Given the description of an element on the screen output the (x, y) to click on. 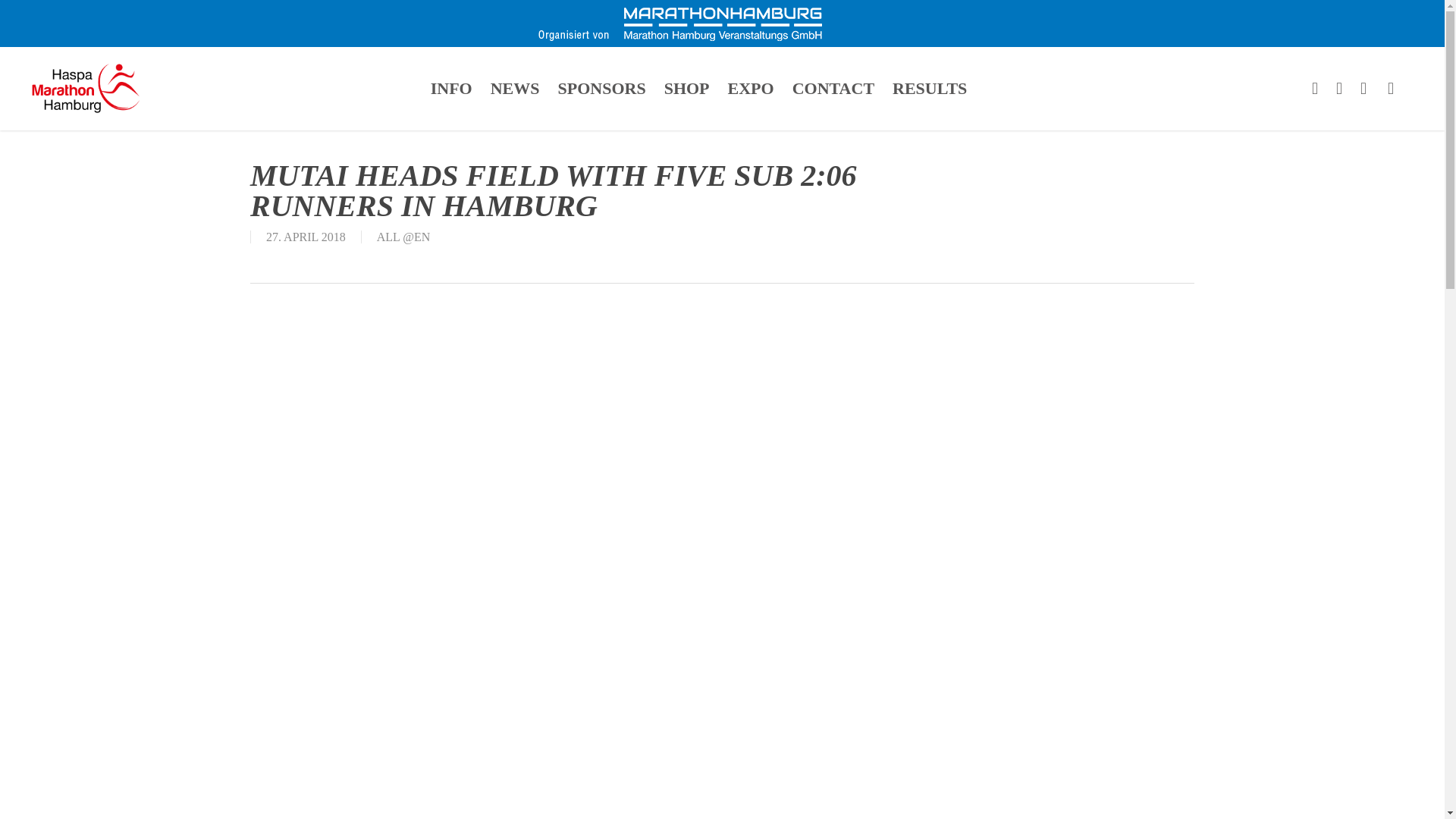
EXPO (751, 88)
NEWS (514, 88)
TWITTER (1314, 88)
Open Cookie Preferences (32, 798)
SHOP (687, 88)
SPONSORS (600, 88)
YOUTUBE (1363, 88)
CONTACT (833, 88)
RESULTS (929, 88)
INSTAGRAM (1391, 88)
